Given the description of an element on the screen output the (x, y) to click on. 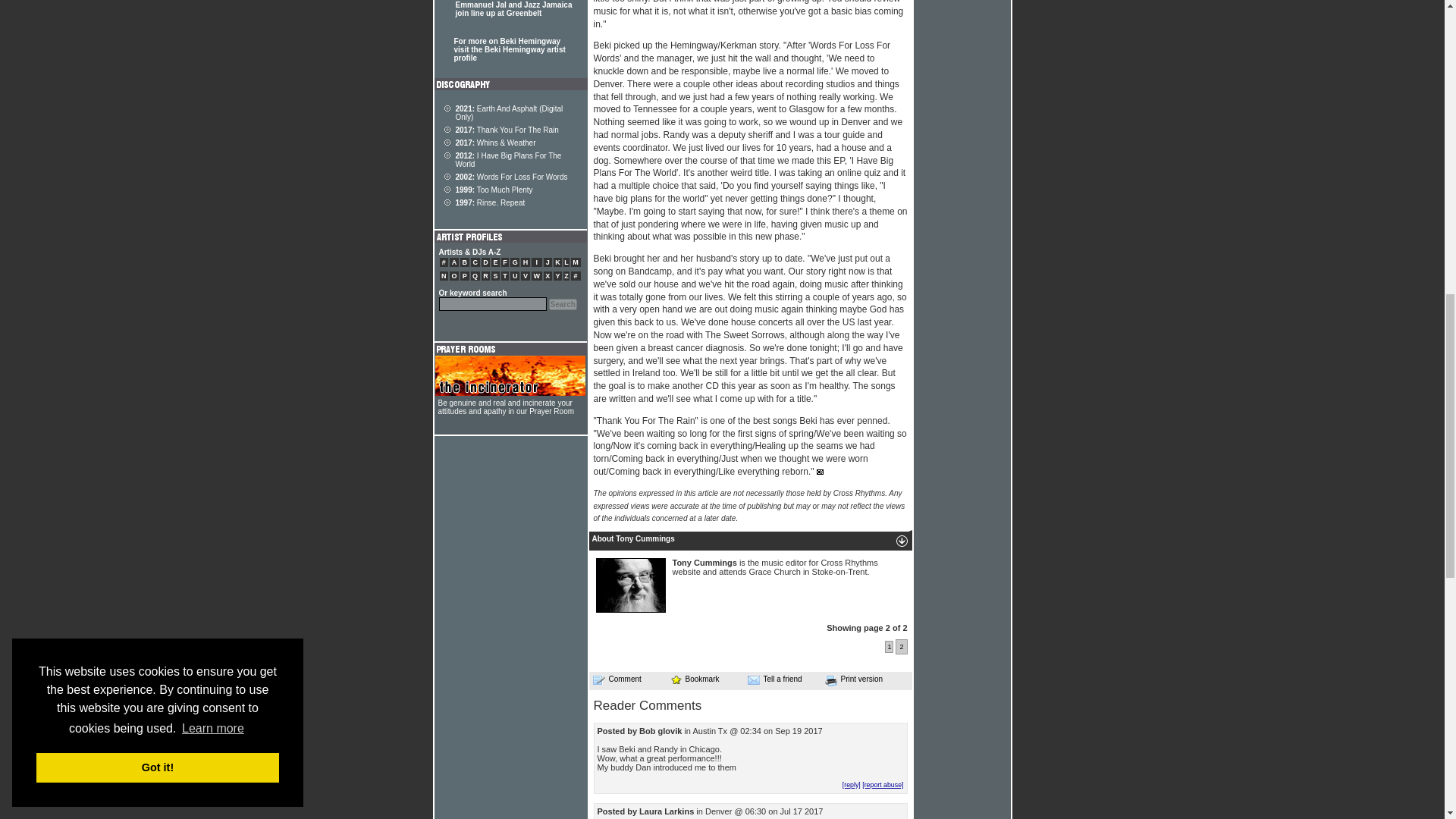
Search (562, 304)
